Given the description of an element on the screen output the (x, y) to click on. 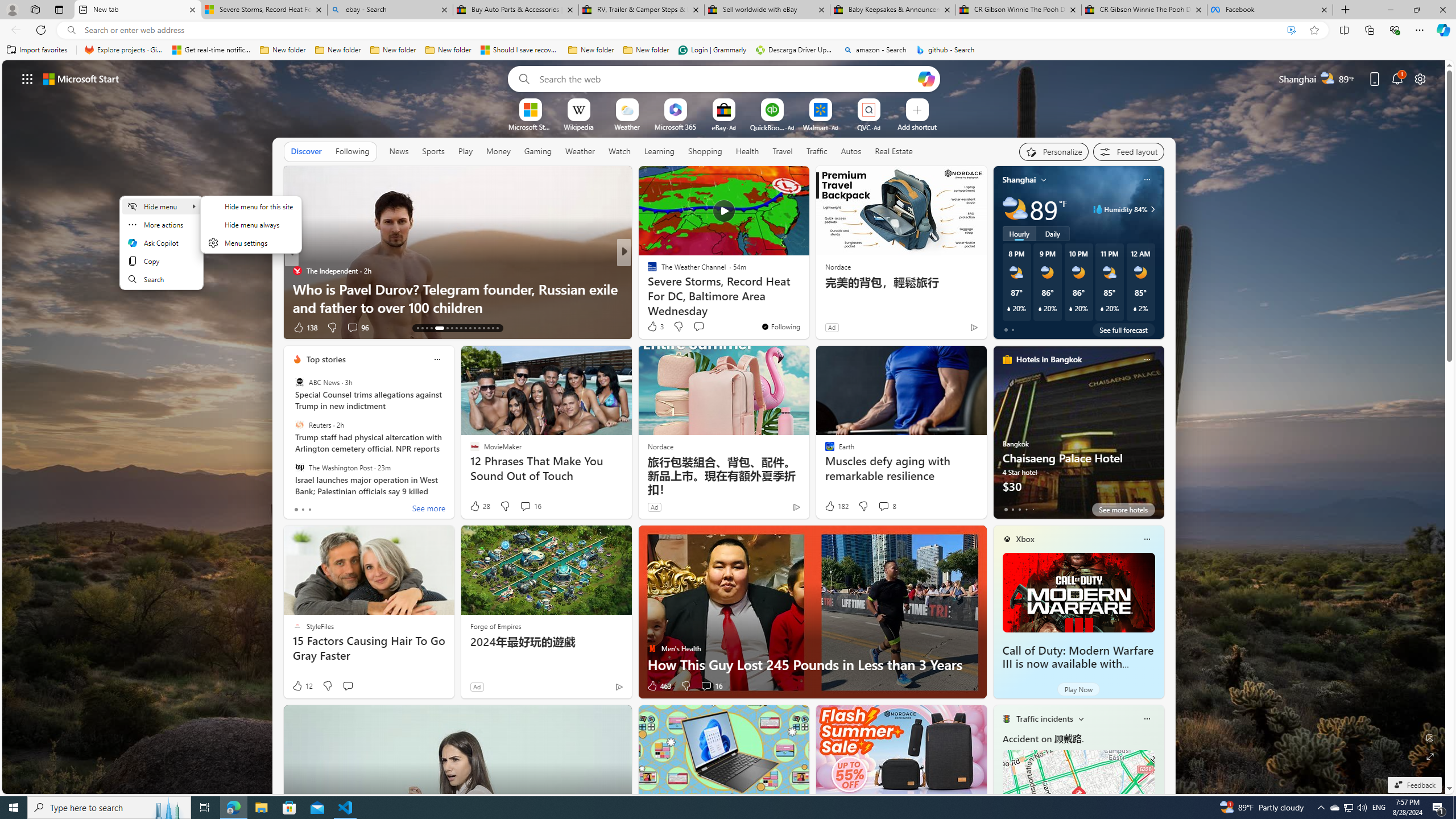
Enter your search term (726, 78)
102 Like (654, 327)
Menu settings (250, 242)
More Options (886, 101)
The Independent (296, 270)
Copy (160, 261)
Play (465, 151)
